Given the description of an element on the screen output the (x, y) to click on. 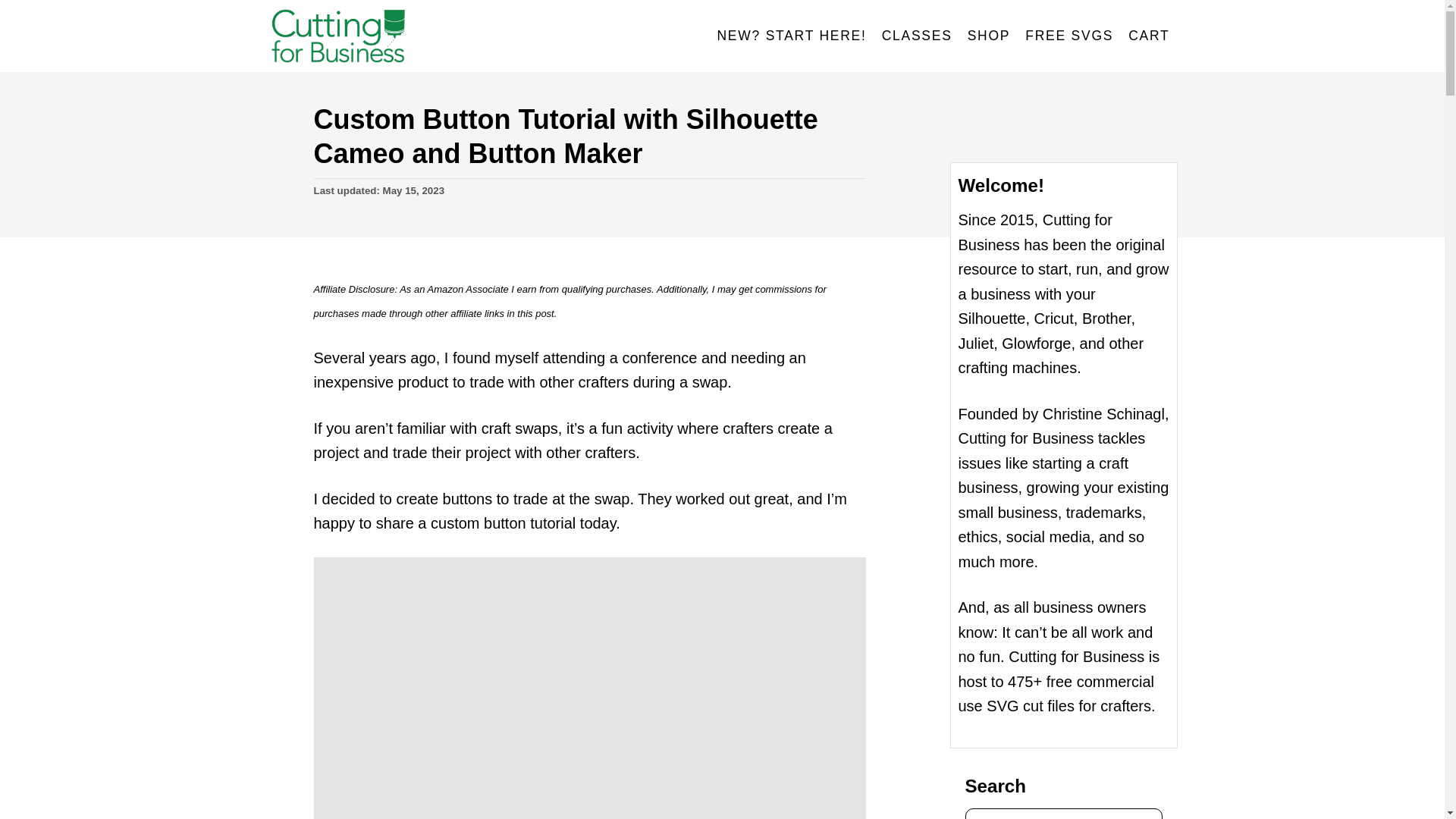
NEW? START HERE! (791, 36)
Search (22, 22)
CLASSES (917, 36)
SHOP (988, 36)
FREE SVGS (1069, 36)
CART (1148, 36)
Cutting for Business (403, 36)
Search for: (1062, 813)
